Given the description of an element on the screen output the (x, y) to click on. 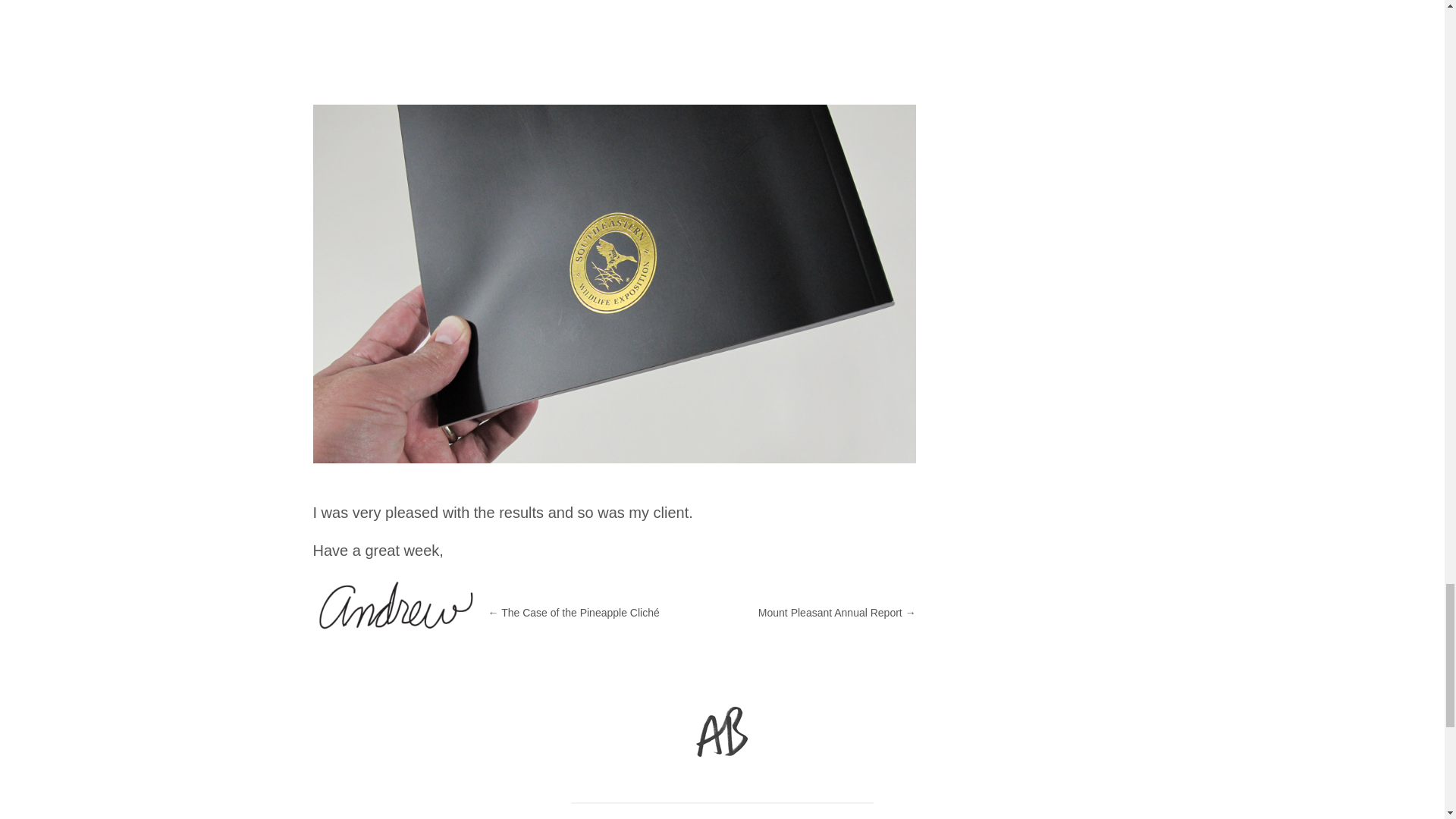
sign-off-initials-1 (722, 733)
